Given the description of an element on the screen output the (x, y) to click on. 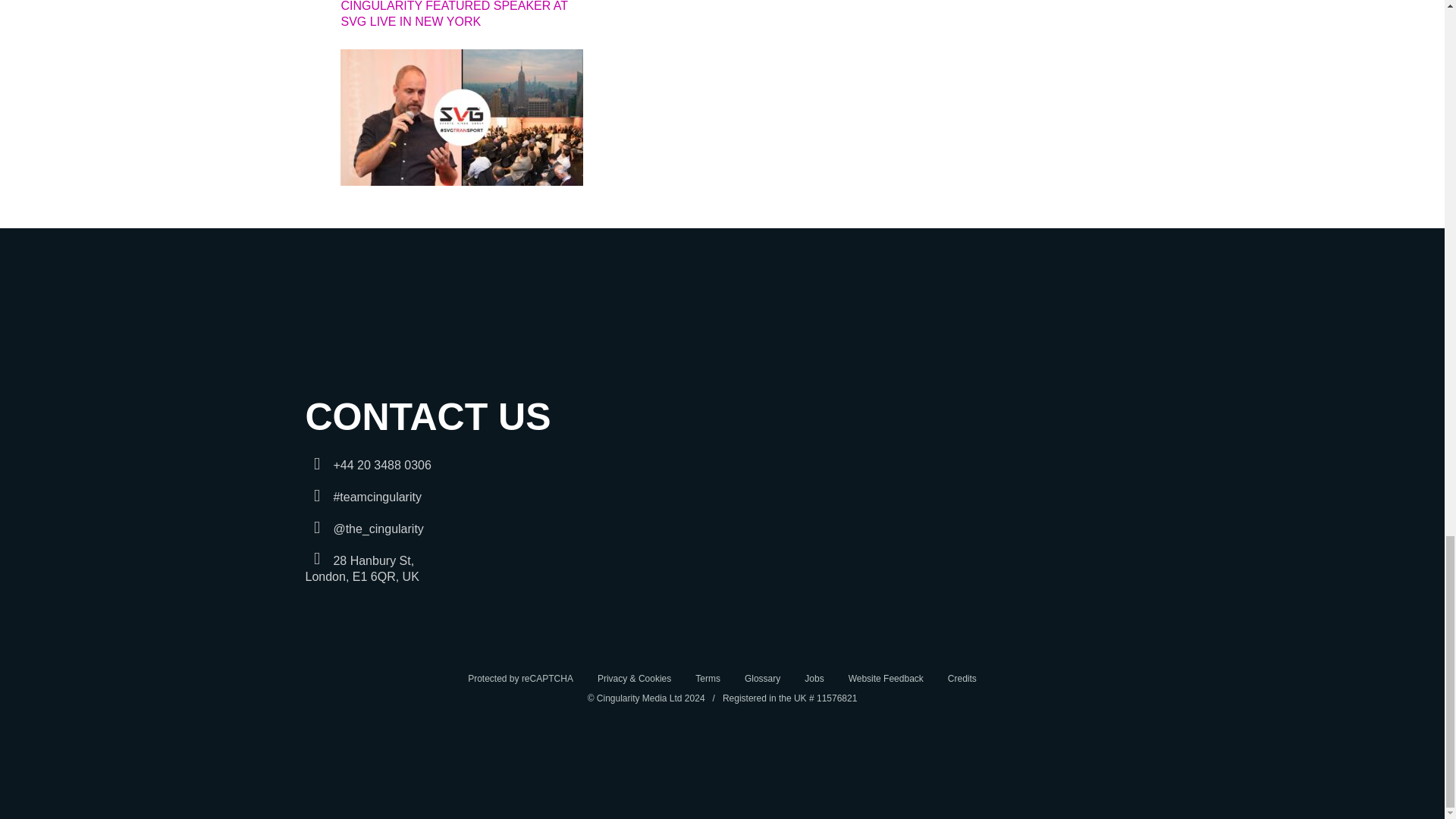
Cingularity Featured Speaker at SVG live in New York (461, 177)
Protected by reCAPTCHA (524, 678)
Terms (712, 678)
Credits (961, 678)
CINGULARITY FEATURED SPEAKER AT SVG LIVE IN NEW YORK (461, 18)
click to call (361, 568)
Website Feedback (367, 464)
Glossary (890, 678)
follow us on Linkedin (766, 678)
